Given the description of an element on the screen output the (x, y) to click on. 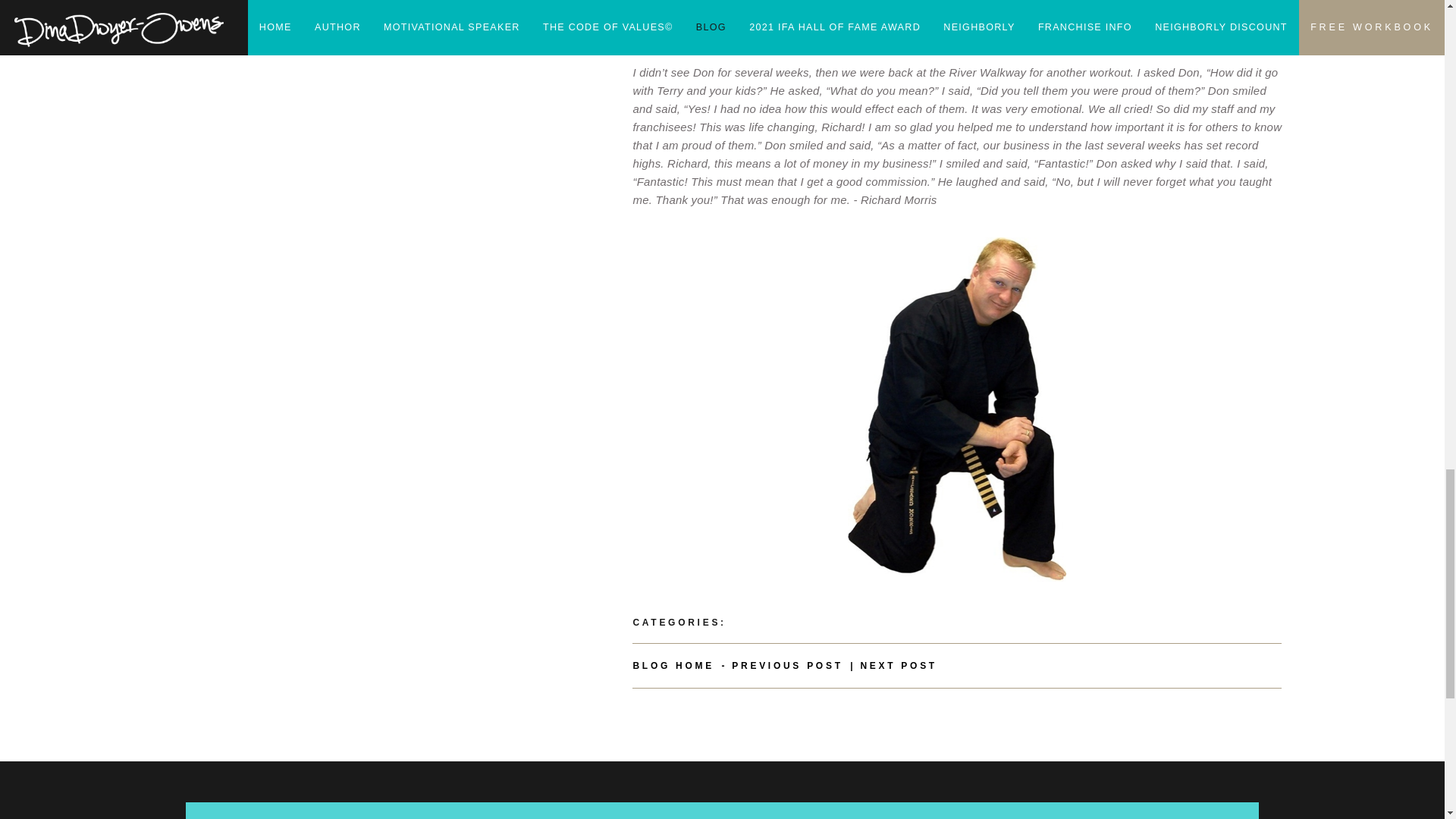
PREVIOUS POST (787, 665)
NEXT POST (898, 665)
SITE MAP (585, 818)
HOME (646, 818)
BLOG HOME (672, 665)
New Normal, Old Friends (787, 665)
